Given the description of an element on the screen output the (x, y) to click on. 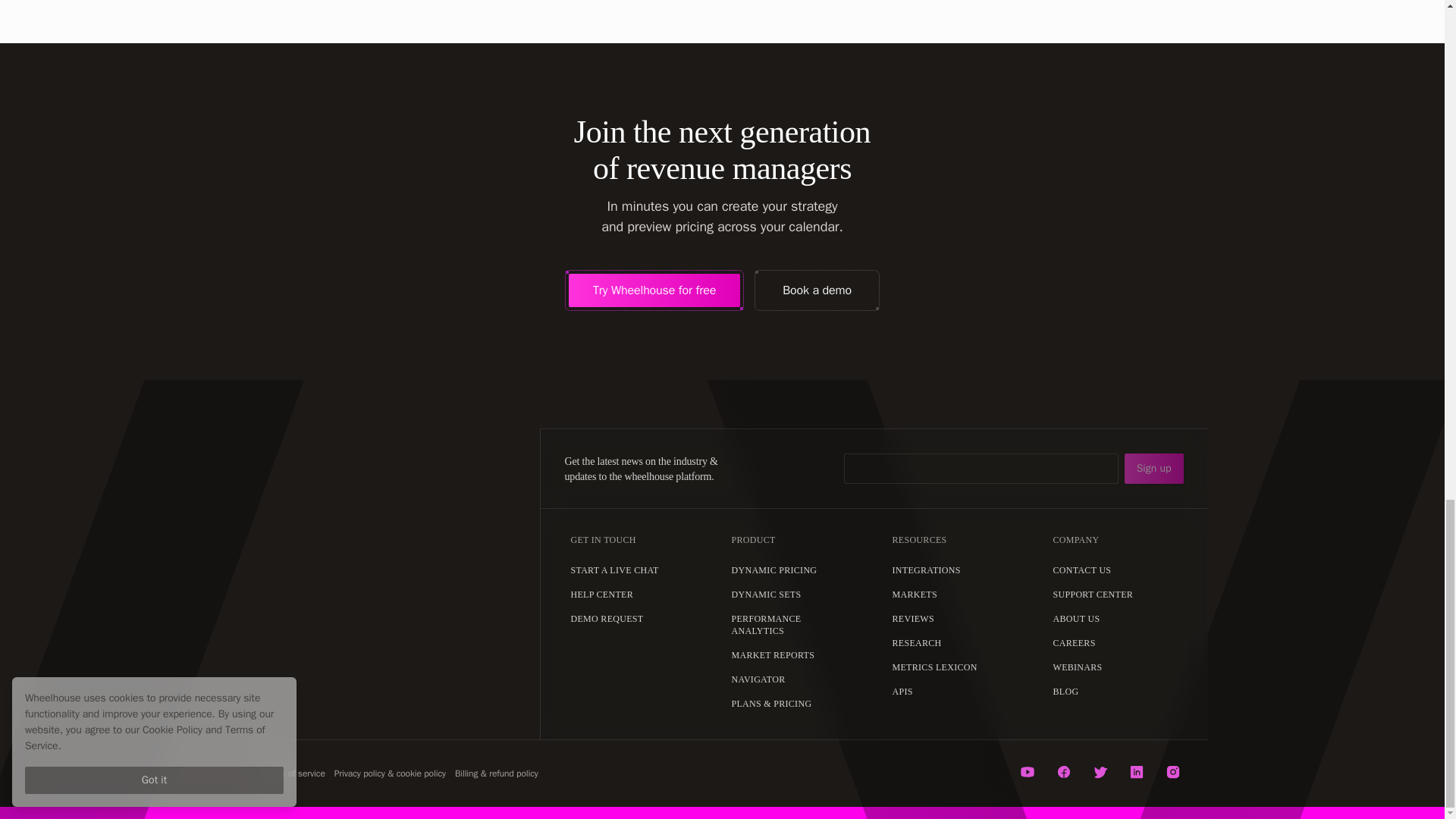
METRICS LEXICON (933, 666)
START A LIVE CHAT (613, 569)
DYNAMIC SETS (765, 593)
NAVIGATOR (757, 678)
PERFORMANCE ANALYTICS (793, 624)
HELP CENTER (601, 593)
Book a demo (817, 290)
REVIEWS (912, 617)
INTEGRATIONS (925, 569)
RESEARCH (916, 641)
Try Wheelhouse for free (654, 290)
APIS (901, 690)
DEMO REQUEST (606, 617)
MARKETS (913, 593)
Sign up (1153, 468)
